Given the description of an element on the screen output the (x, y) to click on. 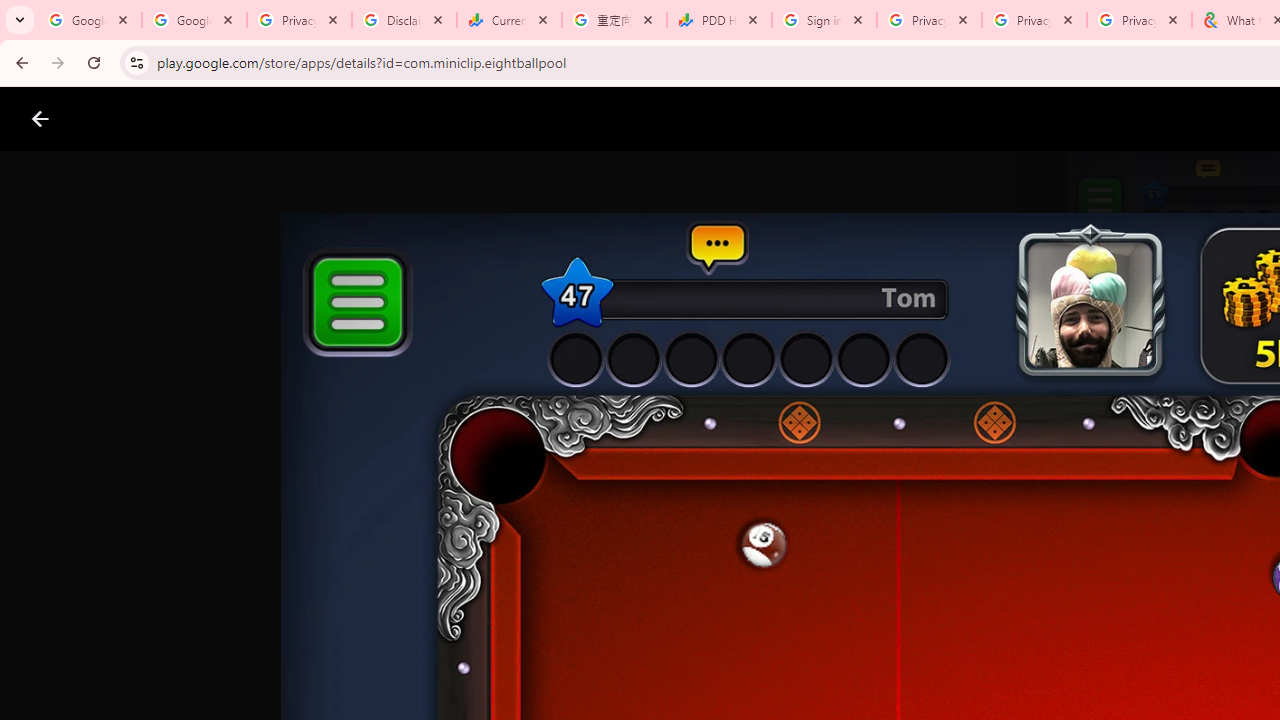
Miniclip.com (680, 586)
Close screenshot viewer (39, 119)
PDD Holdings Inc - ADR (PDD) Price & News - Google Finance (718, 20)
Apps (321, 119)
Privacy Checkup (1138, 20)
Games (248, 119)
